Given the description of an element on the screen output the (x, y) to click on. 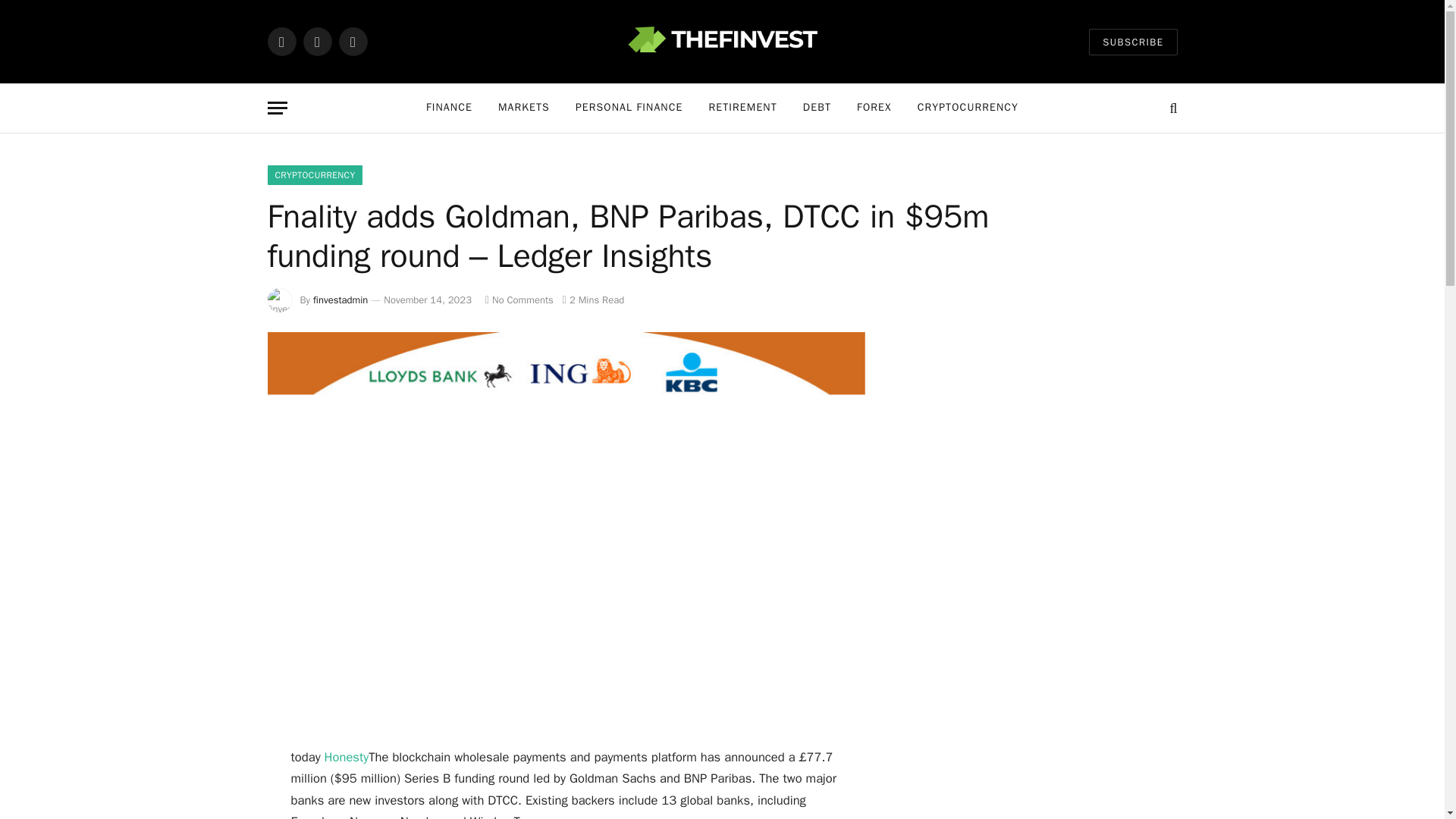
Instagram (351, 41)
CRYPTOCURRENCY (967, 107)
FOREX (874, 107)
RETIREMENT (742, 107)
DEBT (817, 107)
No Comments (518, 298)
FINANCE (448, 107)
PERSONAL FINANCE (628, 107)
Honesty (346, 756)
Posts by finvestadmin (340, 298)
